Given the description of an element on the screen output the (x, y) to click on. 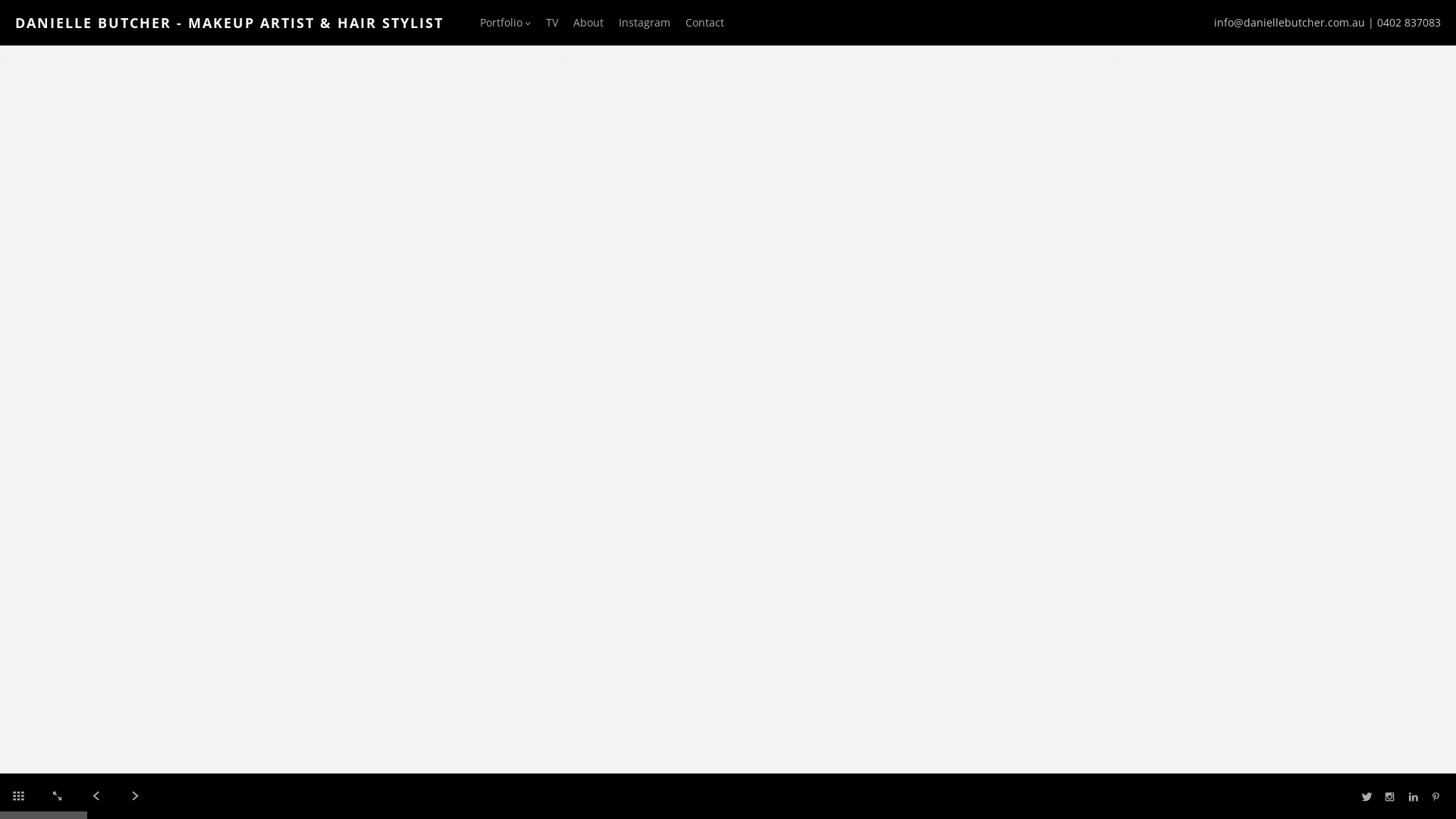
DANIELLE BUTCHER - MAKEUP ARTIST & HAIR STYLIST Element type: text (229, 22)
TV Element type: text (552, 22)
About Element type: text (588, 22)
Contact Element type: text (704, 22)
Previous Element type: hover (96, 792)
Fullscreen View Element type: hover (56, 792)
Previous Element type: hover (22, 409)
Next Element type: hover (134, 792)
Instagram Element type: text (644, 22)
Small Image View Element type: hover (18, 792)
